Given the description of an element on the screen output the (x, y) to click on. 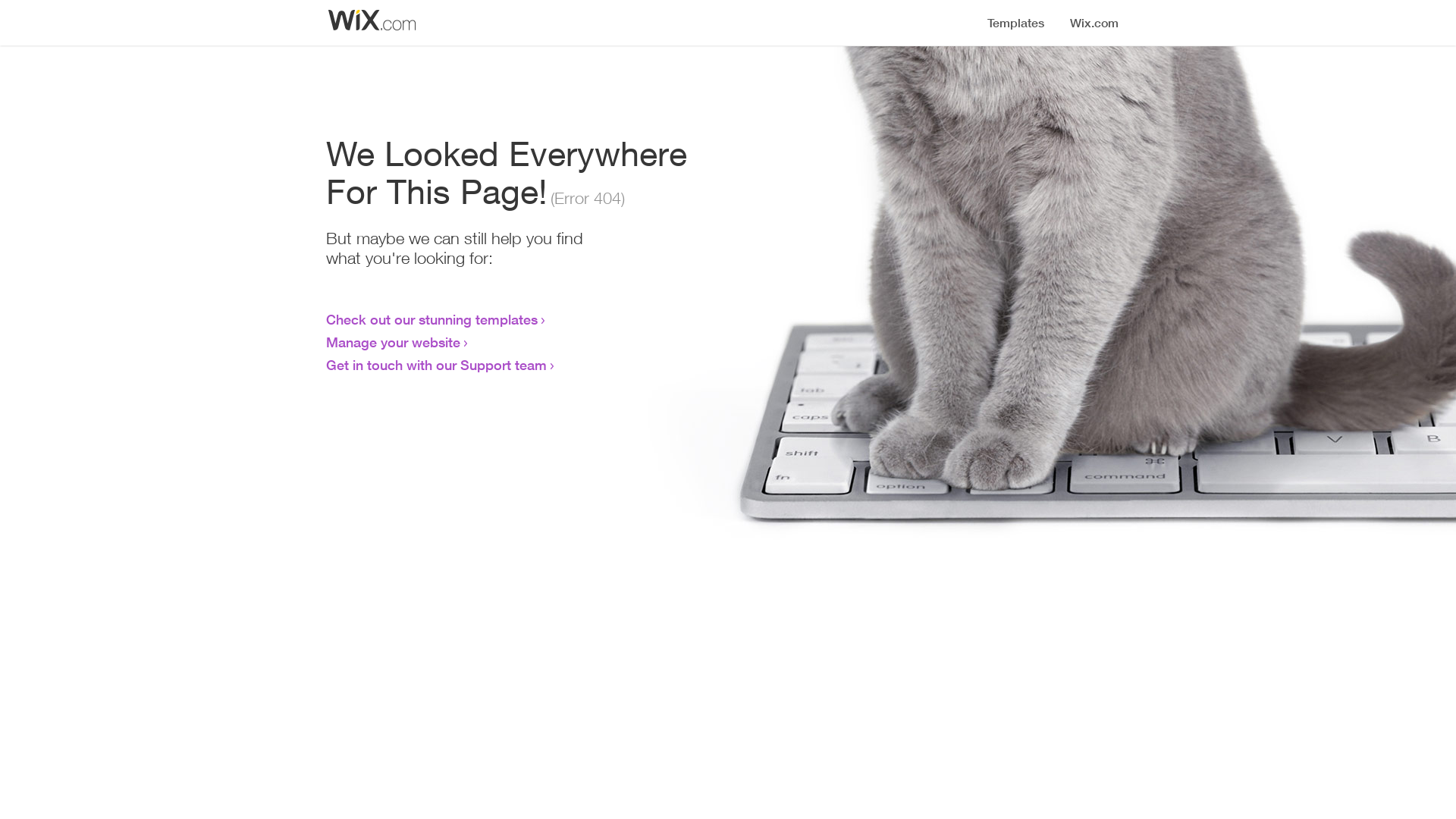
Manage your website Element type: text (393, 341)
Check out our stunning templates Element type: text (431, 318)
Get in touch with our Support team Element type: text (436, 364)
